Given the description of an element on the screen output the (x, y) to click on. 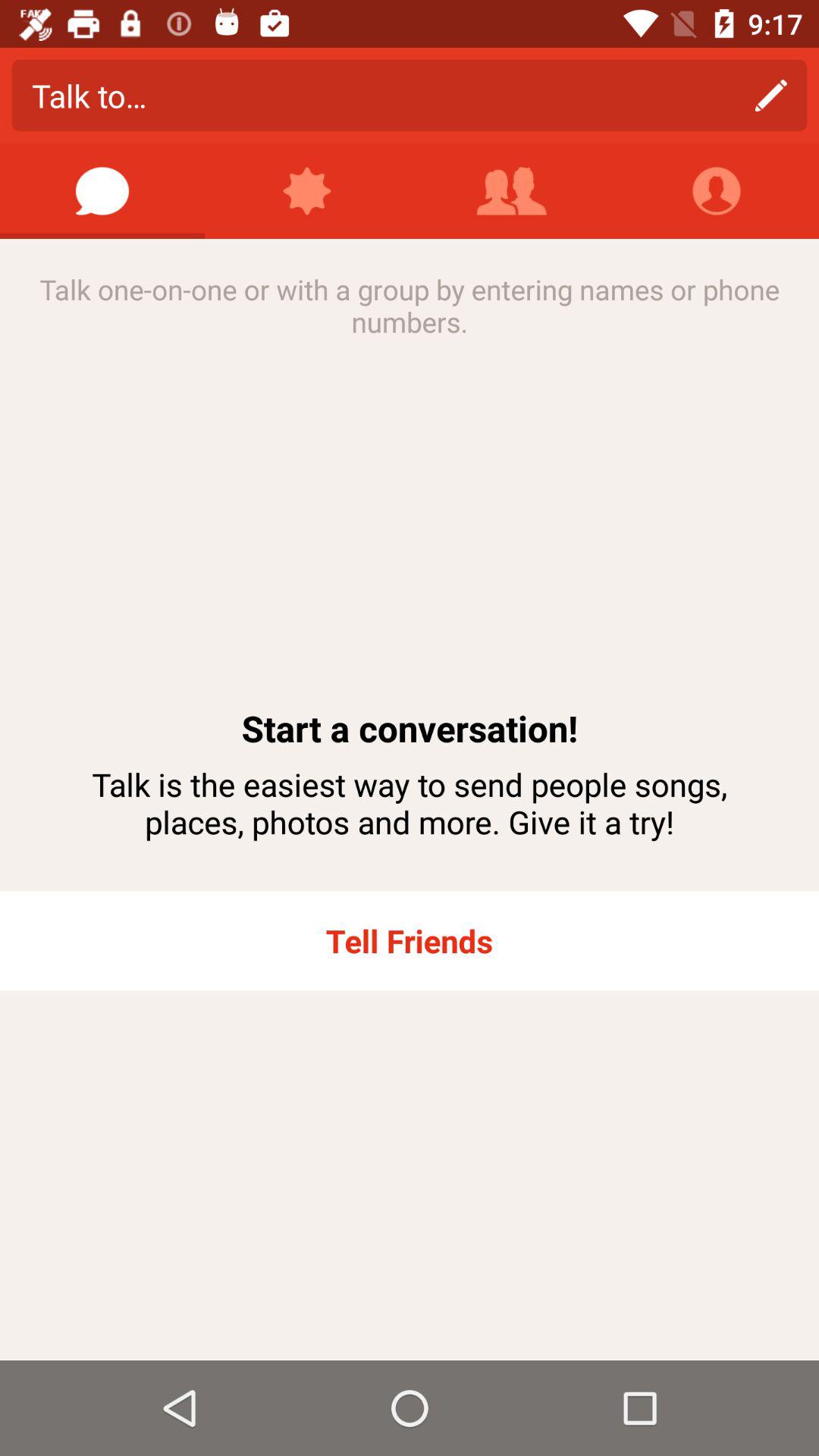
select the app below talk is the (409, 940)
